Given the description of an element on the screen output the (x, y) to click on. 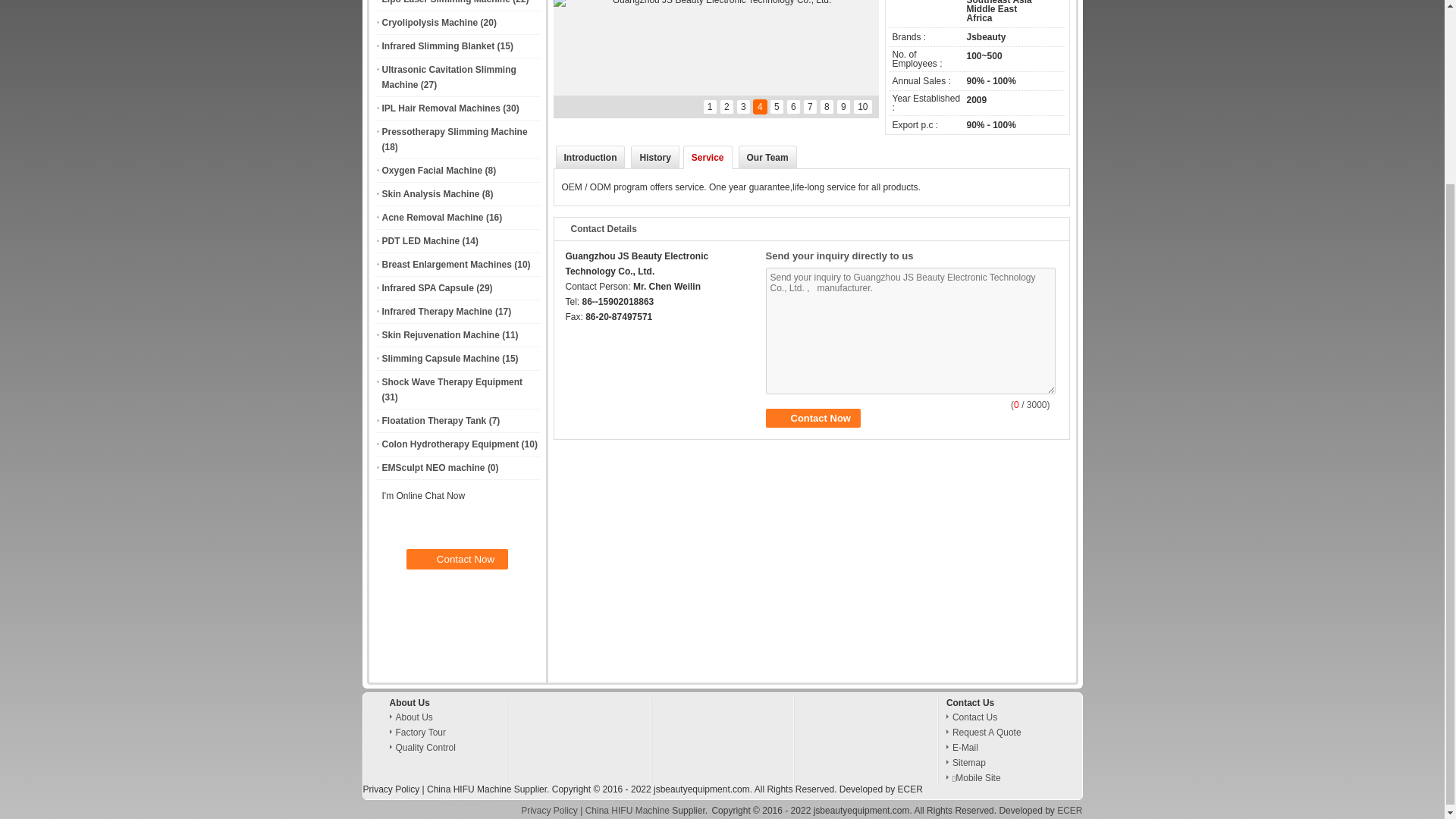
China Infrared Slimming Blanket  on sales (438, 45)
IPL Hair Removal Machines (440, 108)
China Cryolipolysis Machine  on sales (430, 22)
Floatation Therapy Tank (433, 420)
Infrared Therapy Machine (437, 311)
PDT LED Machine (420, 240)
Contact Now (812, 417)
Lipo Laser Slimming Machine (446, 2)
Colon Hydrotherapy Equipment (450, 443)
Ultrasonic Cavitation Slimming Machine (448, 77)
